Given the description of an element on the screen output the (x, y) to click on. 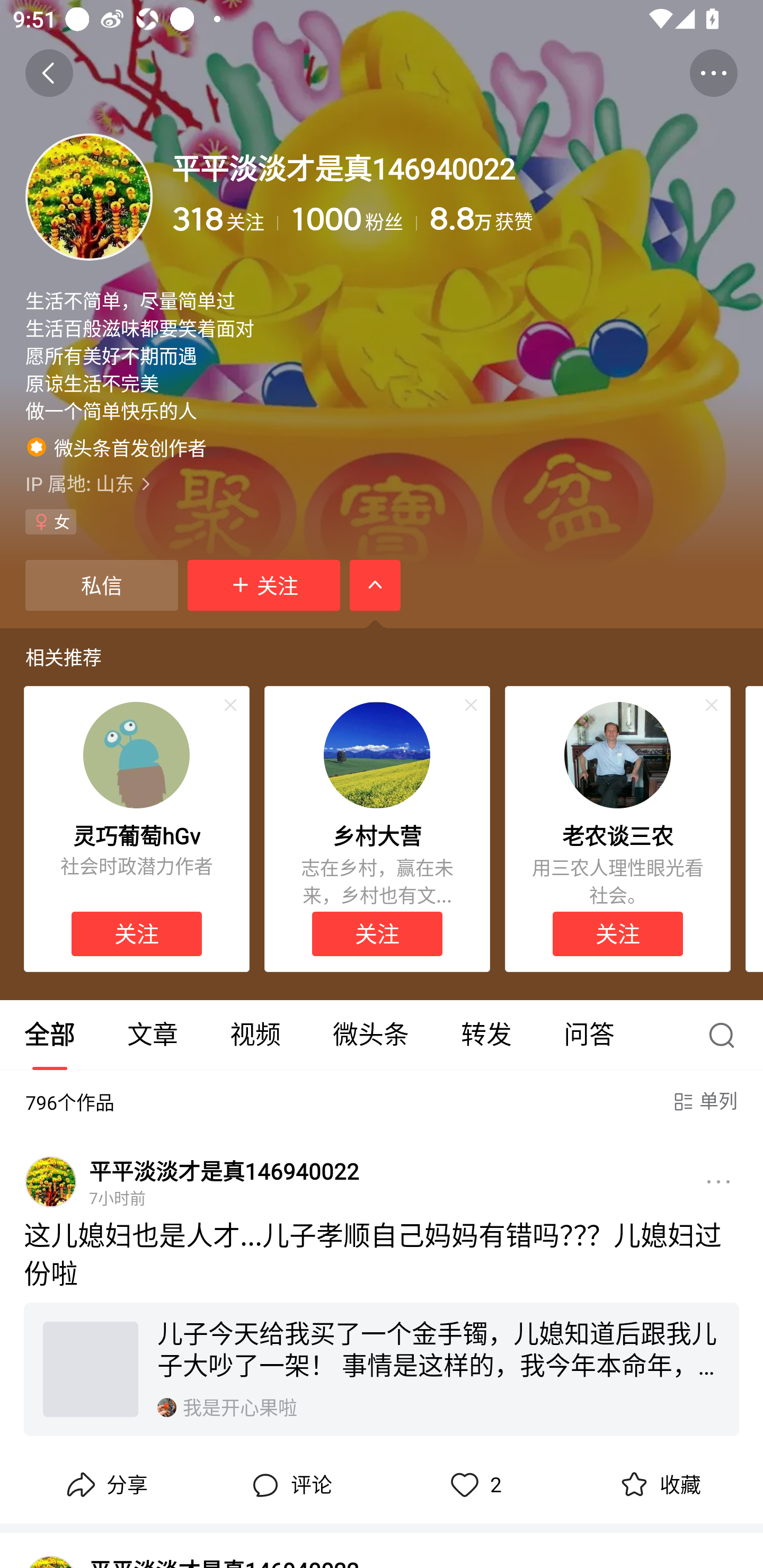
返回 (49, 72)
更多操作 (713, 72)
头像 (88, 196)
318 关注 (224, 219)
1000 粉丝 (353, 219)
8.8万 获赞 (583, 219)
微头条首发创作者 (116, 446)
IP 属地: 山东 (381, 483)
性别女 女 (50, 521)
私信 (101, 585)
     关注 (263, 585)
收起相关推荐，按钮 (374, 585)
灵巧葡萄hGv头像 灵巧葡萄hGv 社会时政潜力作者 关注 关注 不感兴趣 (136, 829)
不感兴趣 (230, 705)
乡村大营头像 乡村大营 志在乡村，赢在未来，乡村也有文... 关注 关注 不感兴趣 (376, 829)
不感兴趣 (470, 705)
老农谈三农头像 老农谈三农 用三农人理性眼光看社会。 关注 关注 不感兴趣 (617, 829)
不感兴趣 (711, 705)
关注 (136, 933)
关注 (377, 933)
关注 (617, 933)
全部 (50, 1034)
文章 (152, 1034)
视频 (254, 1034)
微头条 (370, 1034)
转发 (485, 1034)
问答 (588, 1034)
搜索 (726, 1034)
单列 当前单列点按切换至双列 (703, 1101)
平平淡淡才是真146940022 (224, 1170)
平平淡淡才是真146940022头像 (50, 1182)
更多 (718, 1182)
分享 (104, 1485)
评论, 评论 (288, 1485)
,收藏 收藏 (658, 1485)
